Given the description of an element on the screen output the (x, y) to click on. 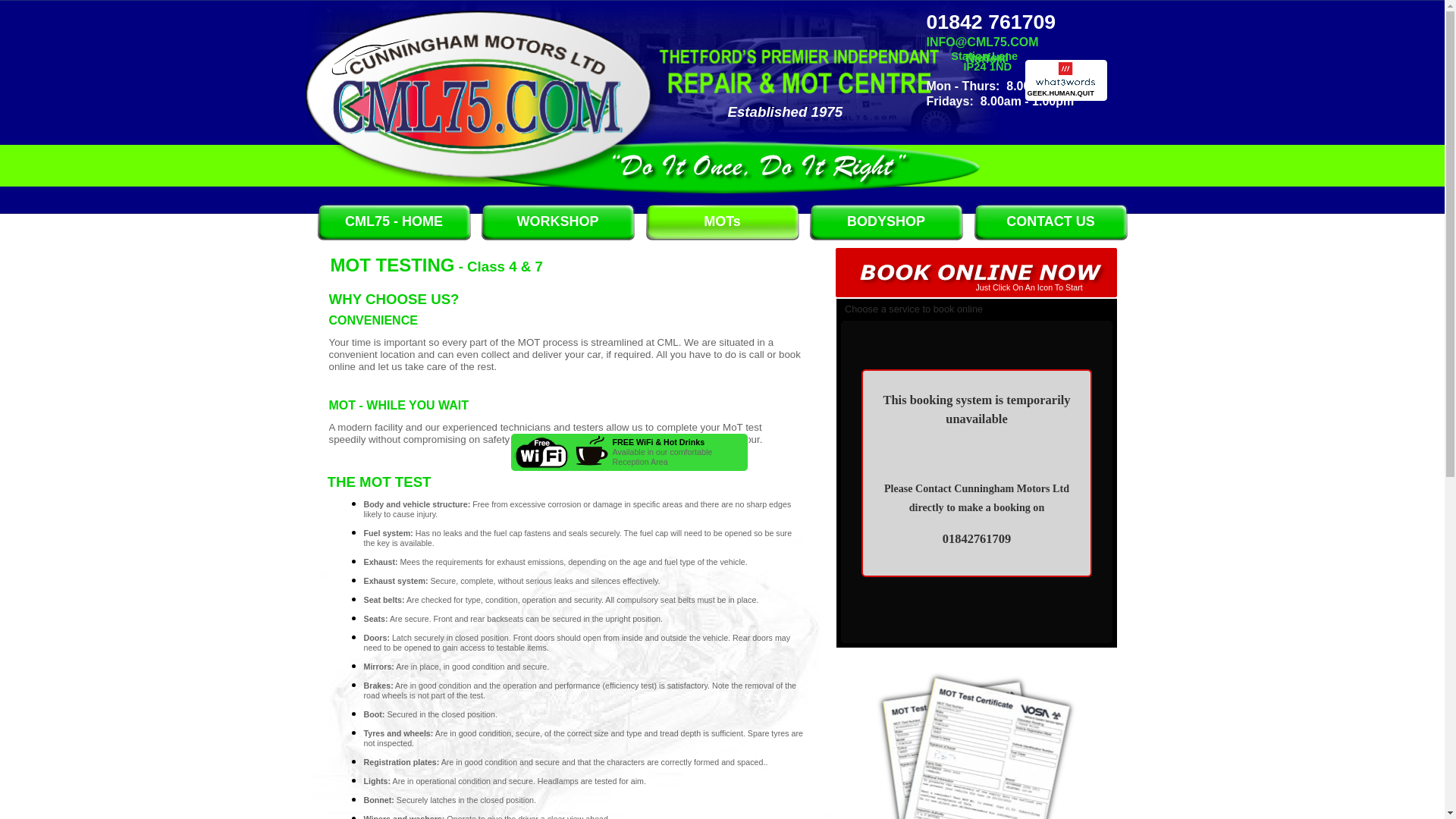
            Thetford (967, 57)
WORKSHOP (558, 221)
        Station Lane (971, 55)
CML75 - HOME (394, 221)
             Norfolk (966, 59)
CONTACT US (1050, 221)
            IP24 1ND (968, 66)
BODYSHOP (885, 221)
MOTs (721, 221)
